Given the description of an element on the screen output the (x, y) to click on. 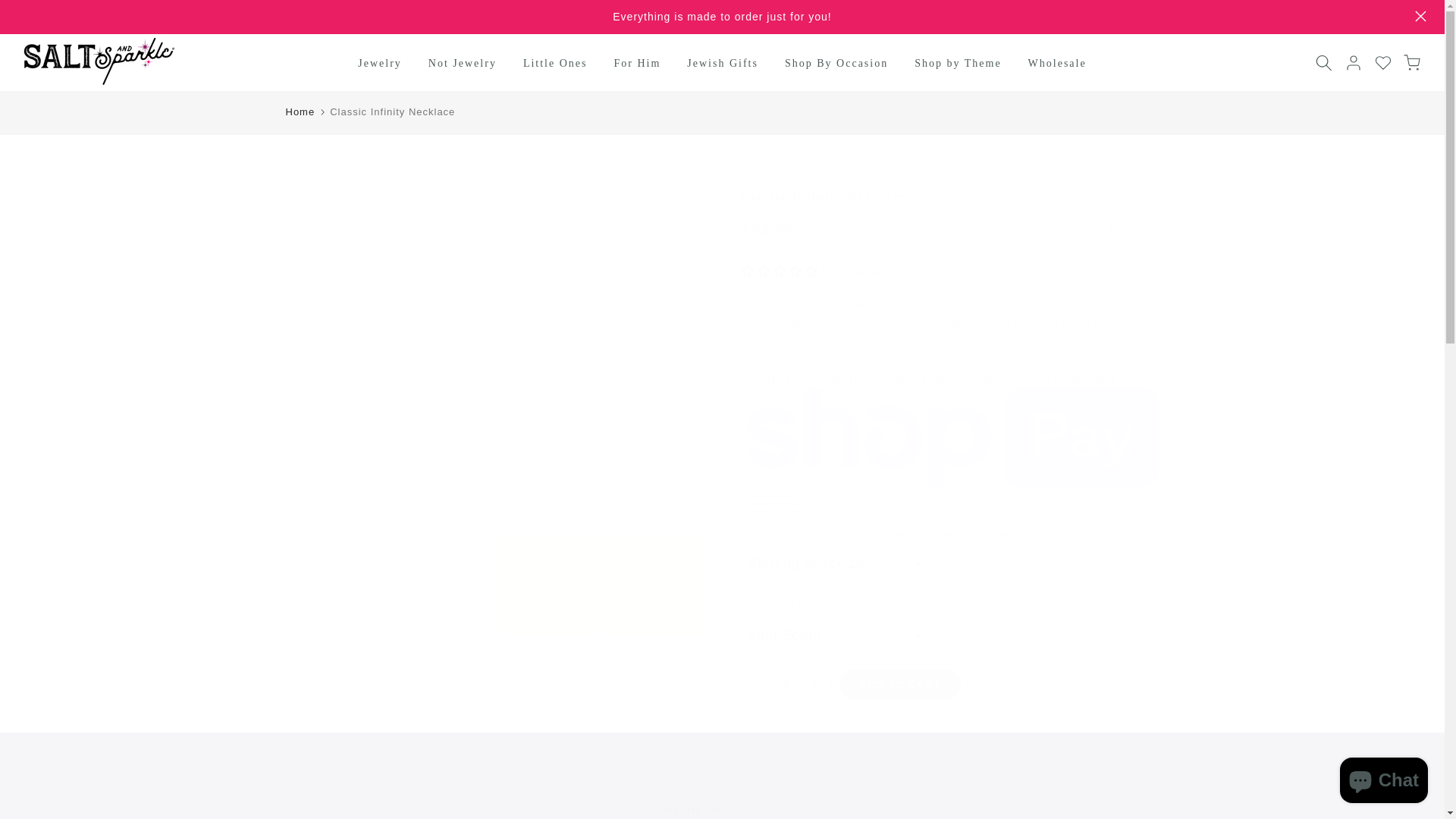
Description (691, 806)
Home (299, 111)
For Him (636, 63)
1 (786, 684)
Shop By Occasion (836, 63)
Jewelry (379, 63)
close (1420, 16)
Reviews (781, 806)
Not Jewelry (461, 63)
Jewish Gifts (722, 63)
